Given the description of an element on the screen output the (x, y) to click on. 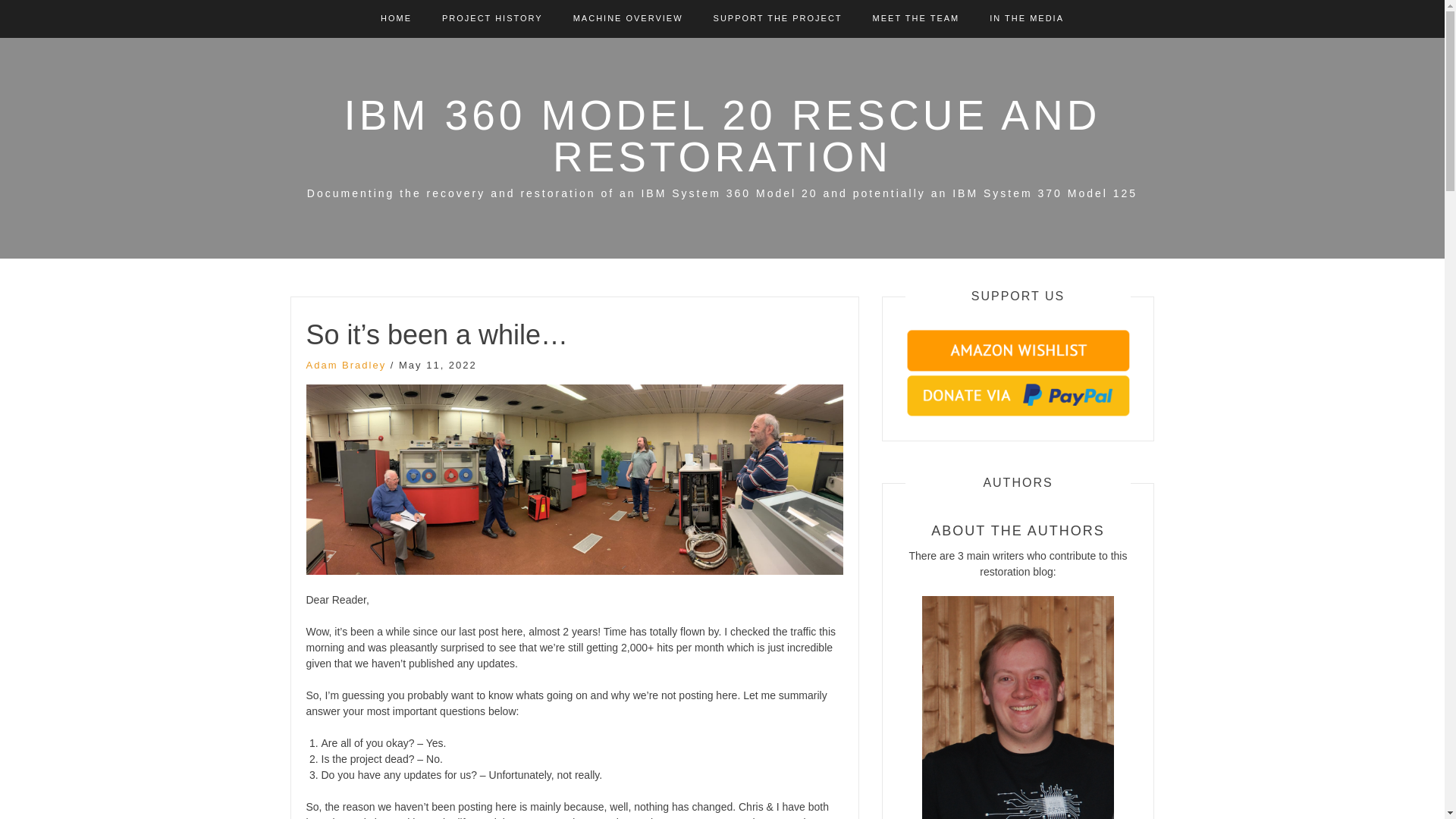
MACHINE OVERVIEW (627, 18)
MEET THE TEAM (915, 18)
Adam Bradley (346, 365)
PROJECT HISTORY (492, 18)
SUPPORT THE PROJECT (778, 18)
IBM 360 MODEL 20 RESCUE AND RESTORATION (721, 135)
IN THE MEDIA (1027, 18)
